Given the description of an element on the screen output the (x, y) to click on. 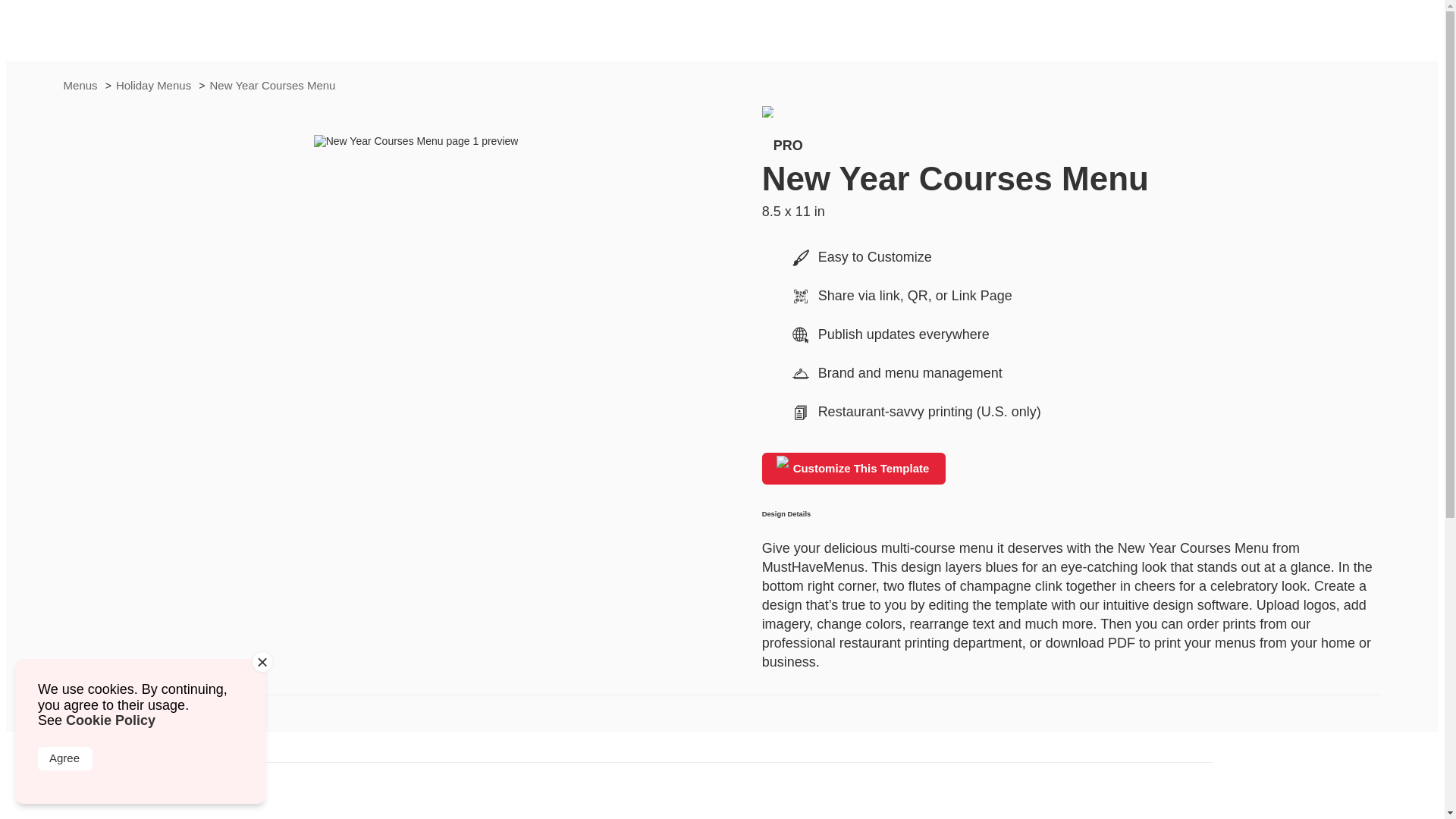
New Year Courses Menu (272, 84)
Menus (82, 84)
Customize This Template (853, 468)
Holiday Menus (154, 84)
